Given the description of an element on the screen output the (x, y) to click on. 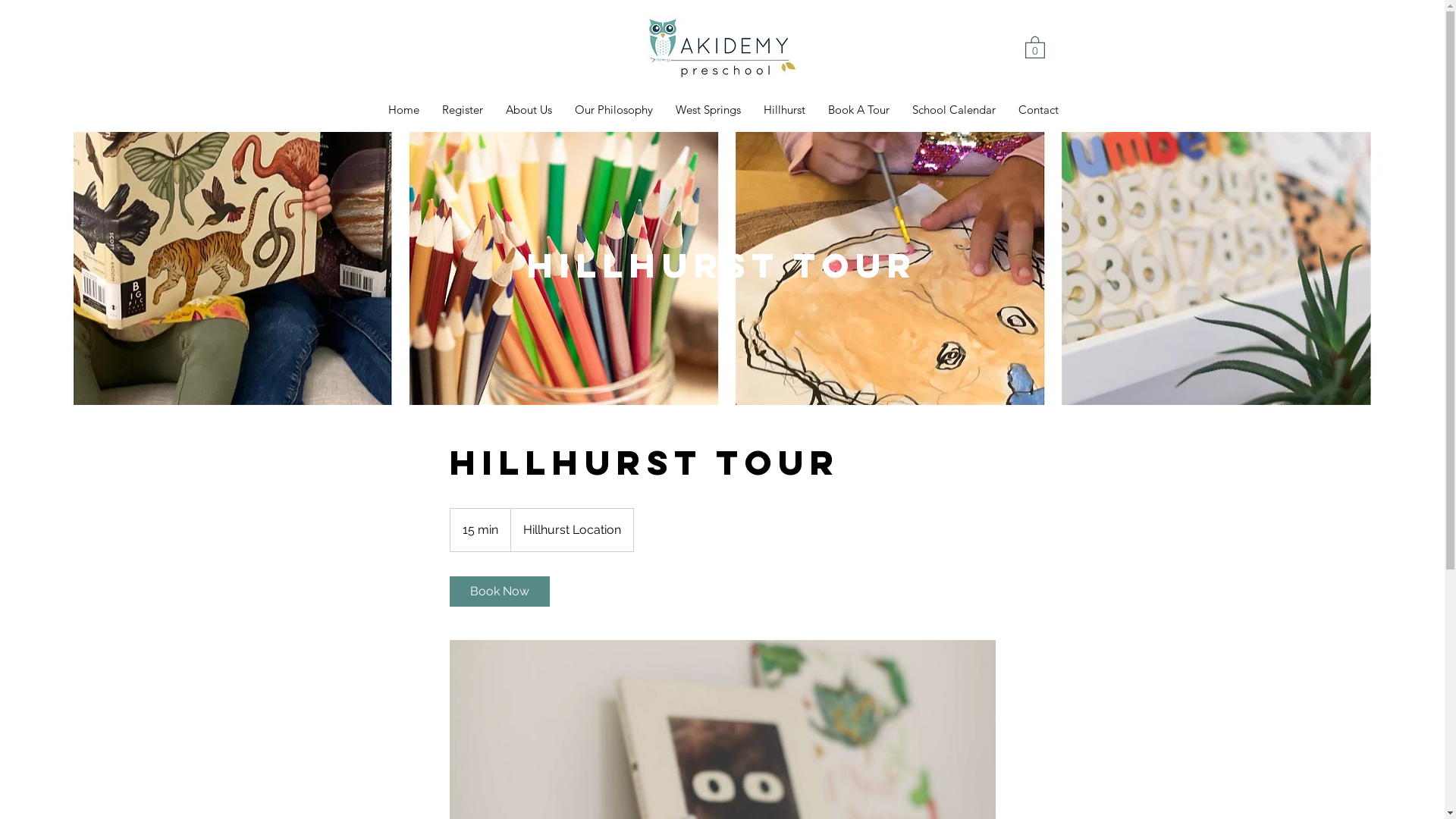
Book A Tour Element type: text (858, 109)
West Springs Element type: text (708, 109)
About Us Element type: text (528, 109)
Home Element type: text (403, 109)
Hillhurst Element type: text (784, 109)
Our Philosophy Element type: text (613, 109)
Book Now Element type: text (498, 591)
Register Element type: text (462, 109)
0 Element type: text (1034, 46)
Contact Element type: text (1038, 109)
School Calendar Element type: text (953, 109)
